Given the description of an element on the screen output the (x, y) to click on. 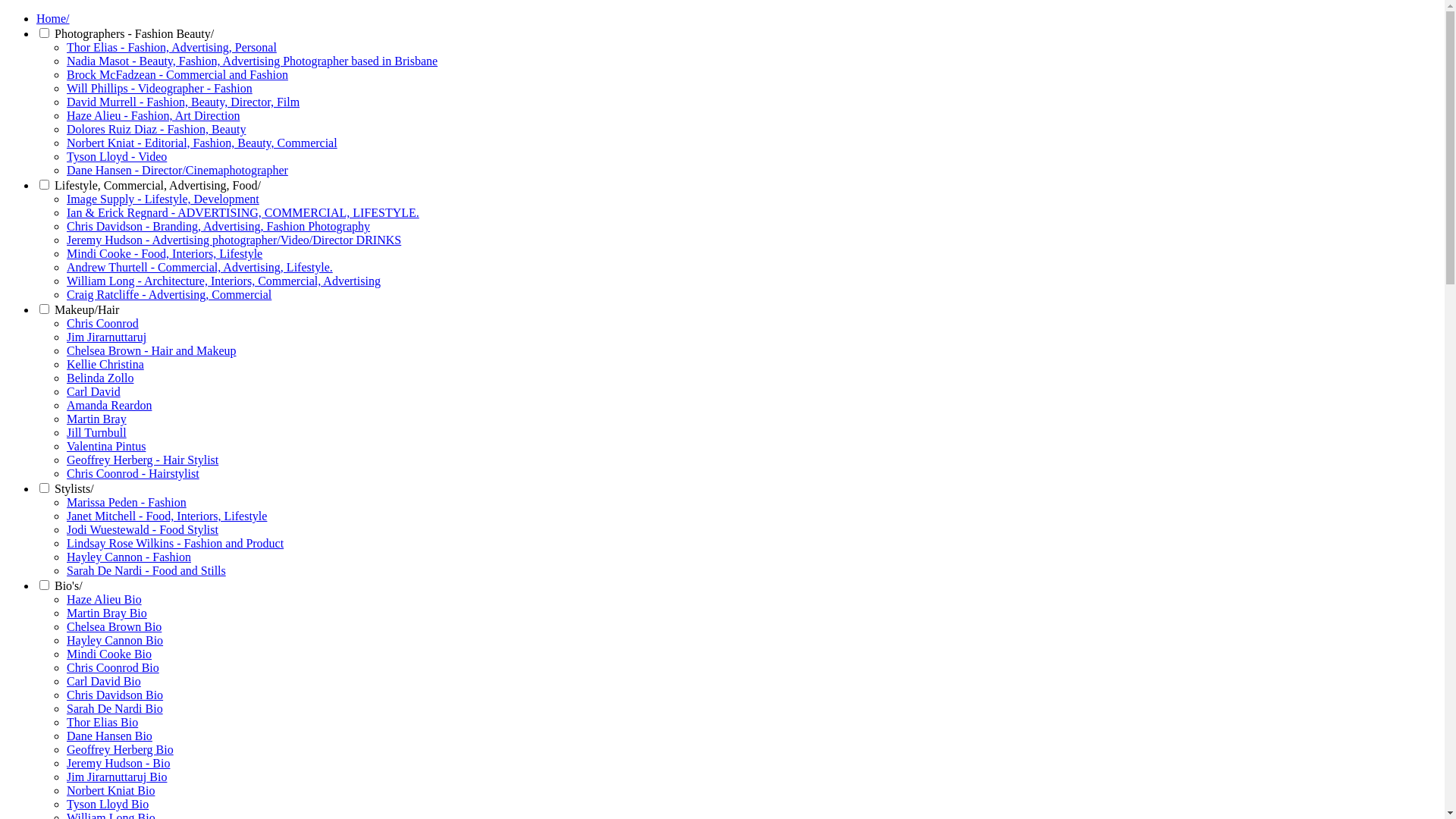
Dane Hansen Bio Element type: text (109, 735)
Jeremy Hudson - Bio Element type: text (117, 762)
Dane Hansen - Director/Cinemaphotographer Element type: text (177, 169)
Craig Ratcliffe - Advertising, Commercial Element type: text (168, 294)
Valentina Pintus Element type: text (105, 445)
Makeup/Hair Element type: text (86, 309)
David Murrell - Fashion, Beauty, Director, Film Element type: text (182, 101)
Ian & Erick Regnard - ADVERTISING, COMMERCIAL, LIFESTYLE. Element type: text (242, 212)
Chris Coonrod Element type: text (102, 322)
Bio's/ Element type: text (68, 585)
Haze Alieu Bio Element type: text (103, 599)
Chelsea Brown Bio Element type: text (113, 626)
Image Supply - Lifestyle, Development Element type: text (162, 198)
Tyson Lloyd - Video Element type: text (116, 156)
Mindi Cooke Bio Element type: text (108, 653)
Jill Turnbull Element type: text (96, 432)
Carl David Element type: text (93, 391)
Thor Elias - Fashion, Advertising, Personal Element type: text (171, 46)
Lifestyle, Commercial, Advertising, Food/ Element type: text (157, 184)
Carl David Bio Element type: text (103, 680)
Tyson Lloyd Bio Element type: text (107, 803)
Chris Coonrod - Hairstylist Element type: text (132, 473)
Andrew Thurtell - Commercial, Advertising, Lifestyle. Element type: text (199, 266)
Marissa Peden - Fashion Element type: text (126, 501)
Geoffrey Herberg Bio Element type: text (119, 749)
Photographers - Fashion Beauty/ Element type: text (133, 33)
Amanda Reardon Element type: text (108, 404)
Jodi Wuestewald - Food Stylist Element type: text (142, 529)
Martin Bray Bio Element type: text (106, 612)
Hayley Cannon - Fashion Element type: text (128, 556)
Chris Davidson Bio Element type: text (114, 694)
Thor Elias Bio Element type: text (102, 721)
Dolores Ruiz Diaz - Fashion, Beauty Element type: text (155, 128)
Haze Alieu - Fashion, Art Direction Element type: text (152, 115)
Will Phillips - Videographer - Fashion Element type: text (159, 87)
Sarah De Nardi Bio Element type: text (114, 708)
Martin Bray Element type: text (96, 418)
Sarah De Nardi - Food and Stills Element type: text (145, 570)
Mindi Cooke - Food, Interiors, Lifestyle Element type: text (164, 253)
Chris Coonrod Bio Element type: text (112, 667)
Chelsea Brown - Hair and Makeup Element type: text (151, 350)
Home/ Element type: text (52, 18)
Jim Jirarnuttaruj Bio Element type: text (116, 776)
Norbert Kniat - Editorial, Fashion, Beauty, Commercial Element type: text (201, 142)
Janet Mitchell - Food, Interiors, Lifestyle Element type: text (166, 515)
Hayley Cannon Bio Element type: text (114, 639)
Stylists/ Element type: text (74, 488)
Chris Davidson - Branding, Advertising, Fashion Photography Element type: text (218, 225)
Belinda Zollo Element type: text (99, 377)
Brock McFadzean - Commercial and Fashion Element type: text (177, 74)
Kellie Christina Element type: text (105, 363)
Jim Jirarnuttaruj Element type: text (106, 336)
Geoffrey Herberg - Hair Stylist Element type: text (142, 459)
Lindsay Rose Wilkins - Fashion and Product Element type: text (174, 542)
Norbert Kniat Bio Element type: text (110, 790)
